Given the description of an element on the screen output the (x, y) to click on. 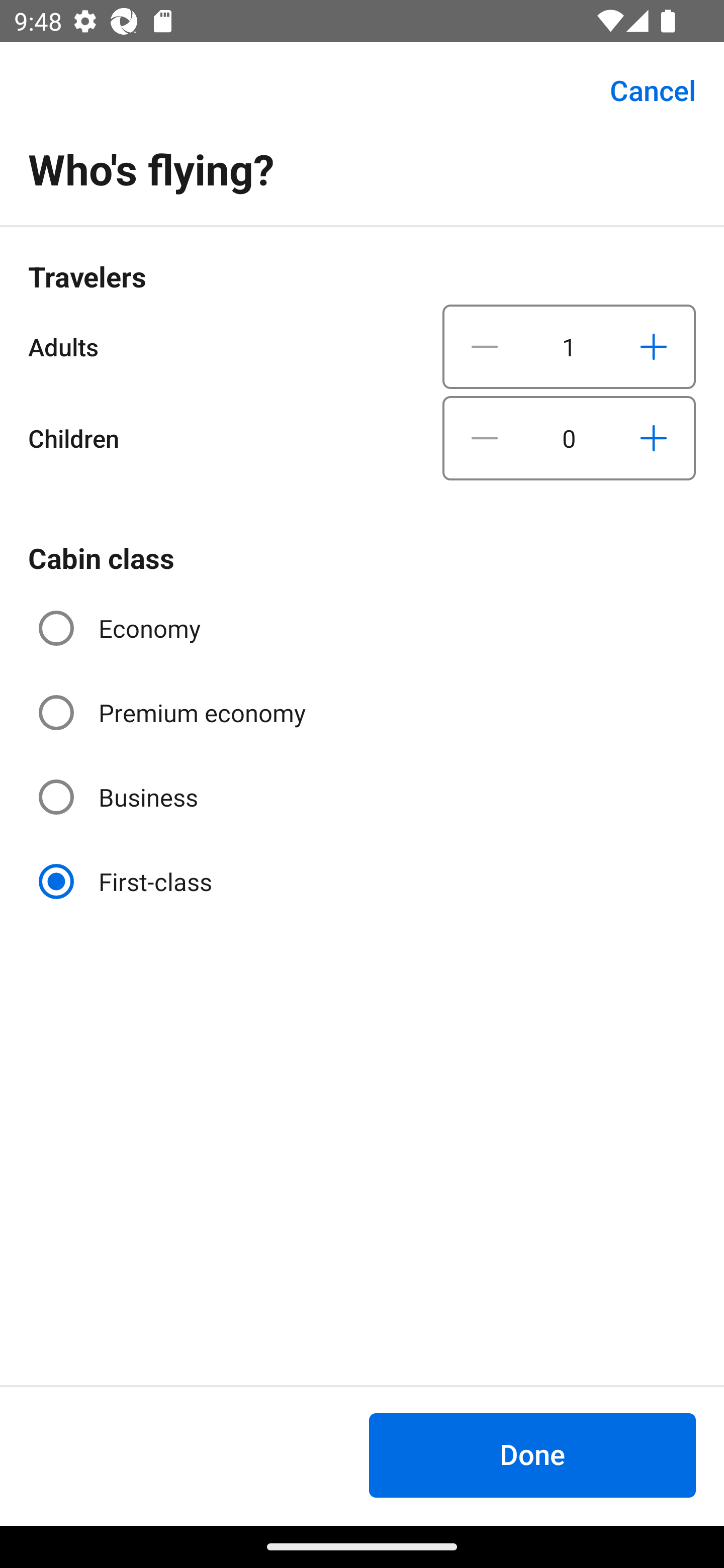
Cancel (641, 90)
Decrease (484, 346)
Increase (653, 346)
Decrease (484, 437)
Increase (653, 437)
Economy (121, 628)
Premium economy (174, 712)
Business (120, 796)
First-class (126, 880)
Done (532, 1454)
